Given the description of an element on the screen output the (x, y) to click on. 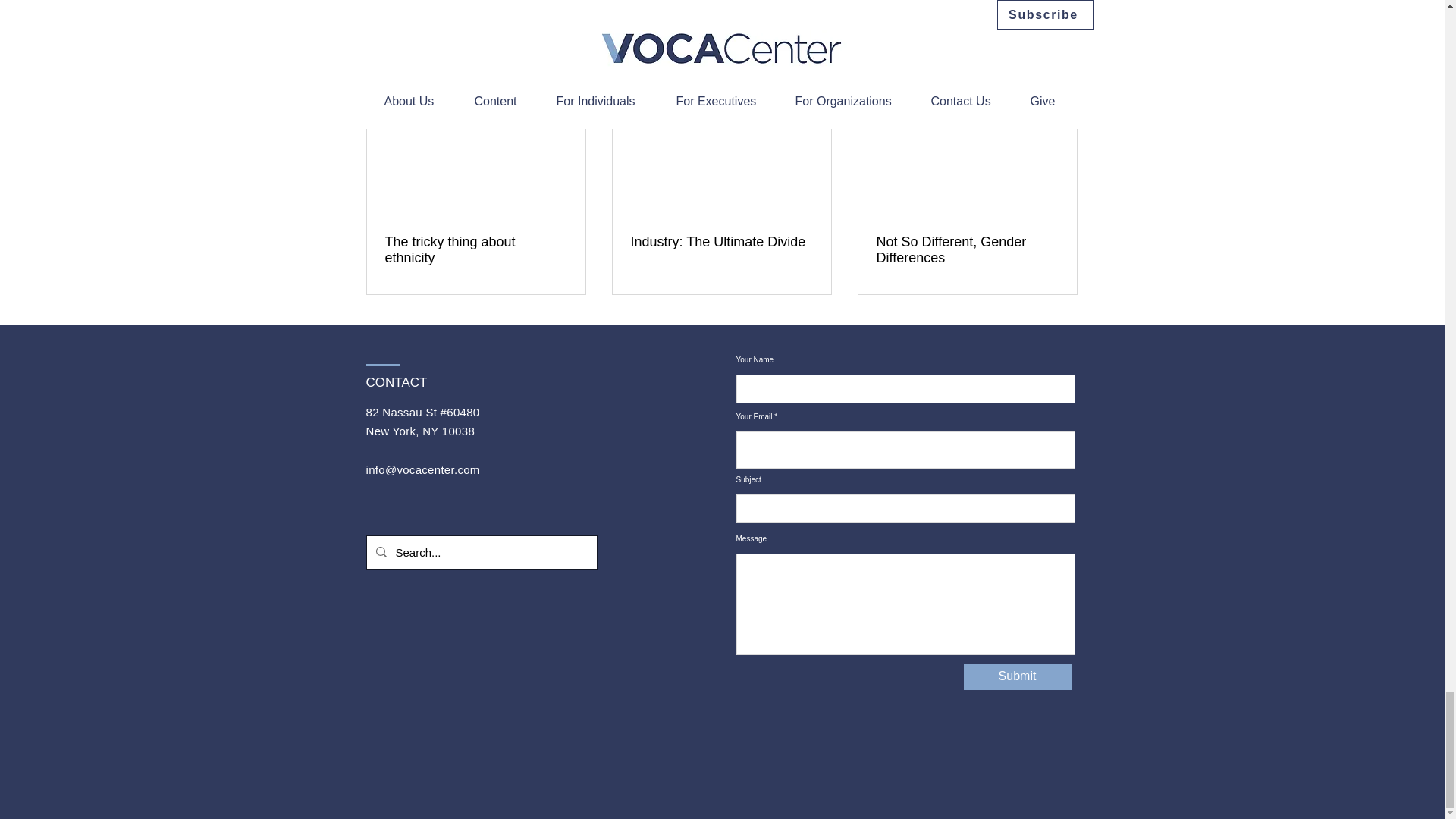
Industry: The Ultimate Divide (721, 242)
The tricky thing about ethnicity (476, 250)
See All (1061, 65)
Not So Different, Gender Differences (967, 250)
